Given the description of an element on the screen output the (x, y) to click on. 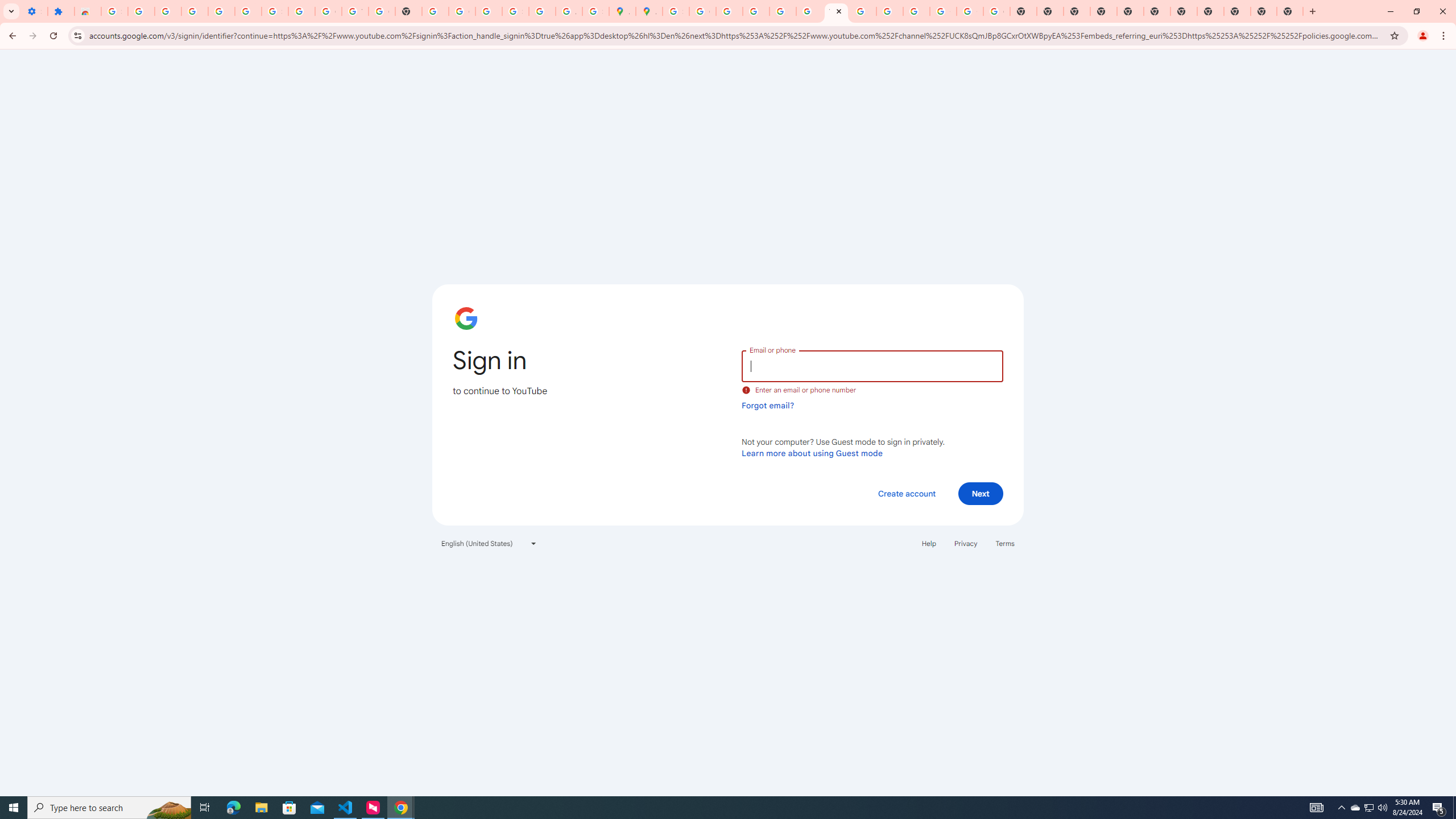
Help (928, 542)
Settings - On startup (34, 11)
https://scholar.google.com/ (435, 11)
Google Account (328, 11)
Sign in - Google Accounts (114, 11)
Email or phone (871, 365)
